Given the description of an element on the screen output the (x, y) to click on. 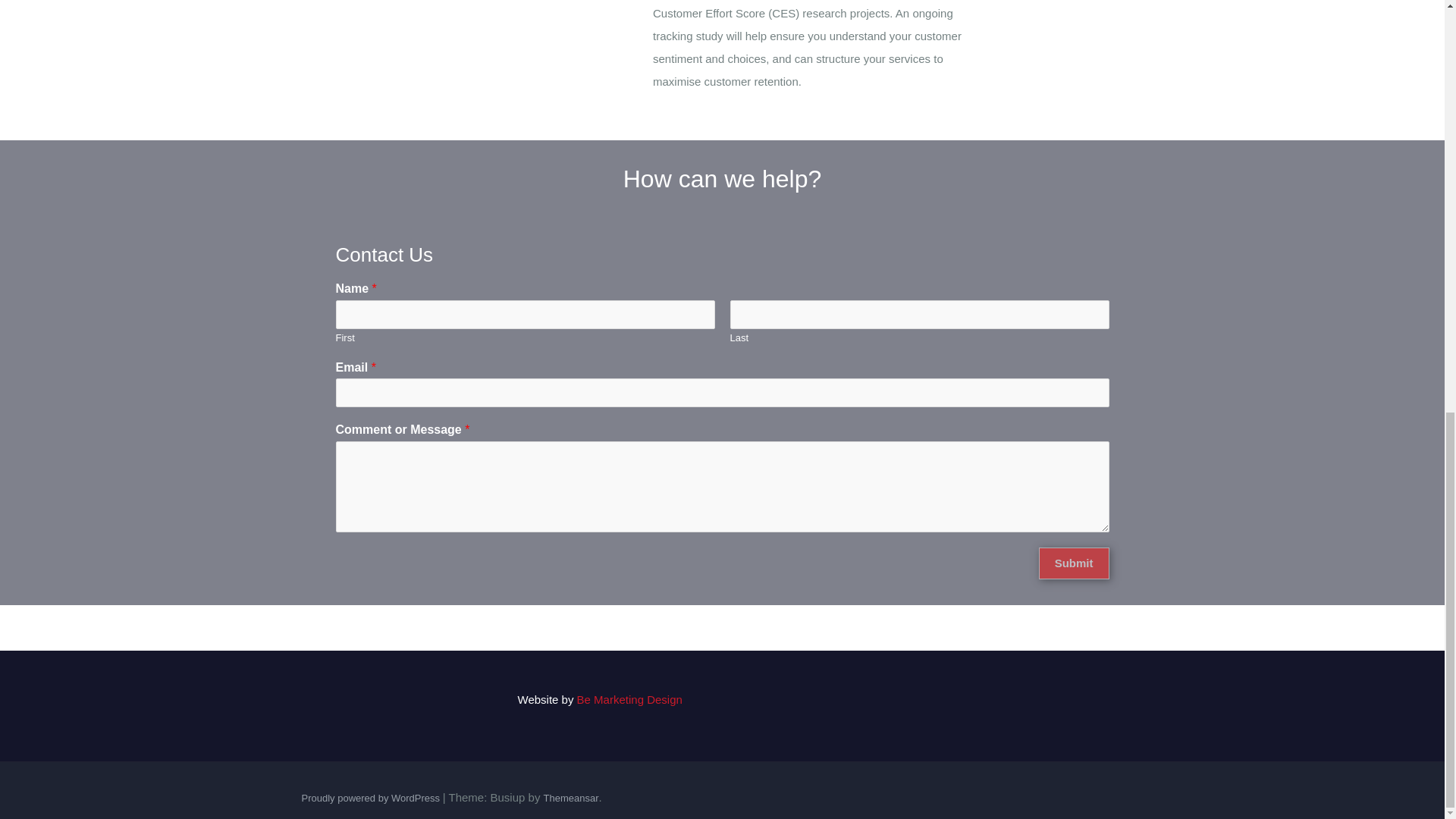
Proudly powered by WordPress (371, 797)
Submit (1074, 563)
Themeansar (570, 797)
Be Marketing Design (629, 698)
